Given the description of an element on the screen output the (x, y) to click on. 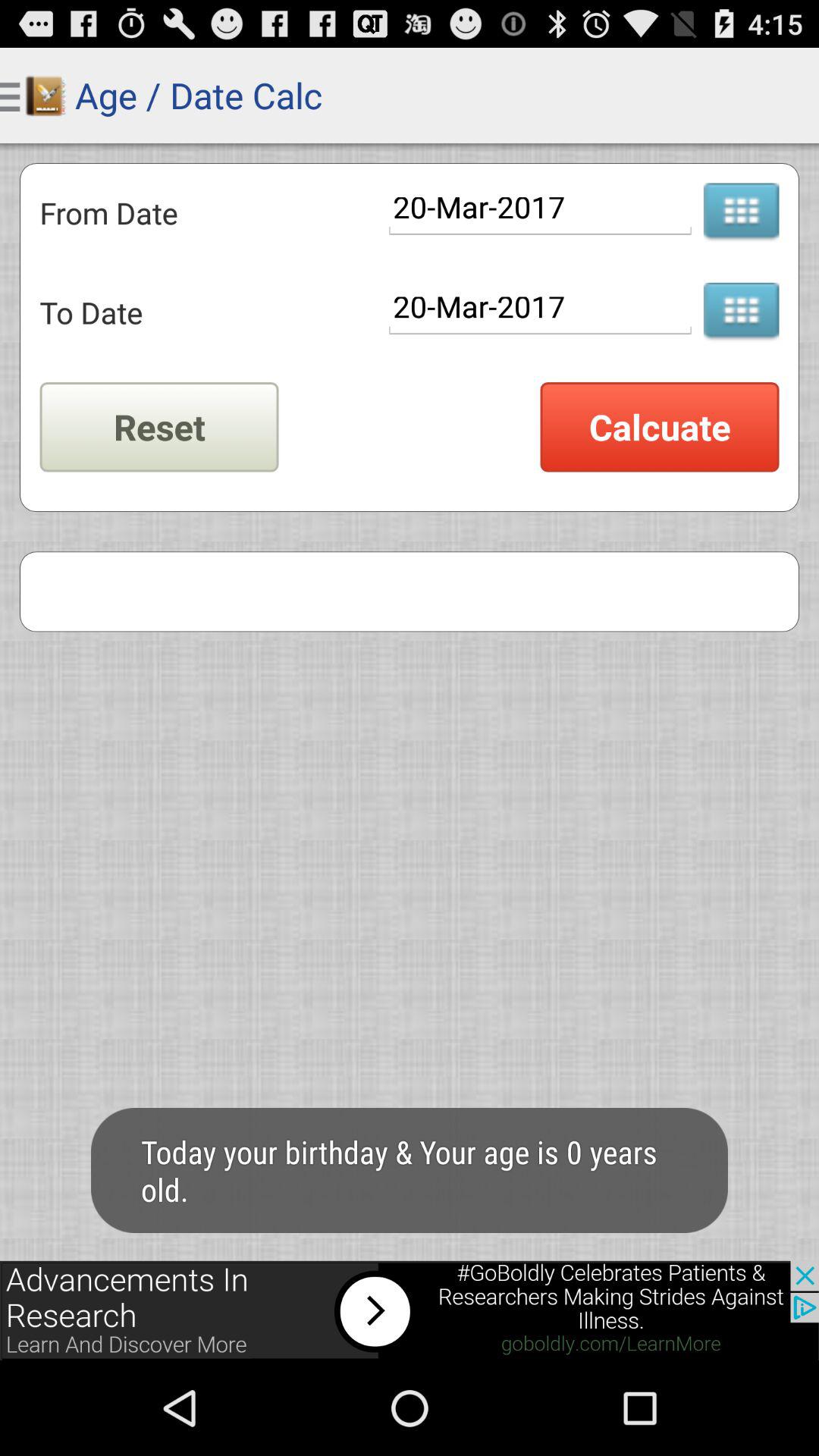
calendar button (741, 312)
